Given the description of an element on the screen output the (x, y) to click on. 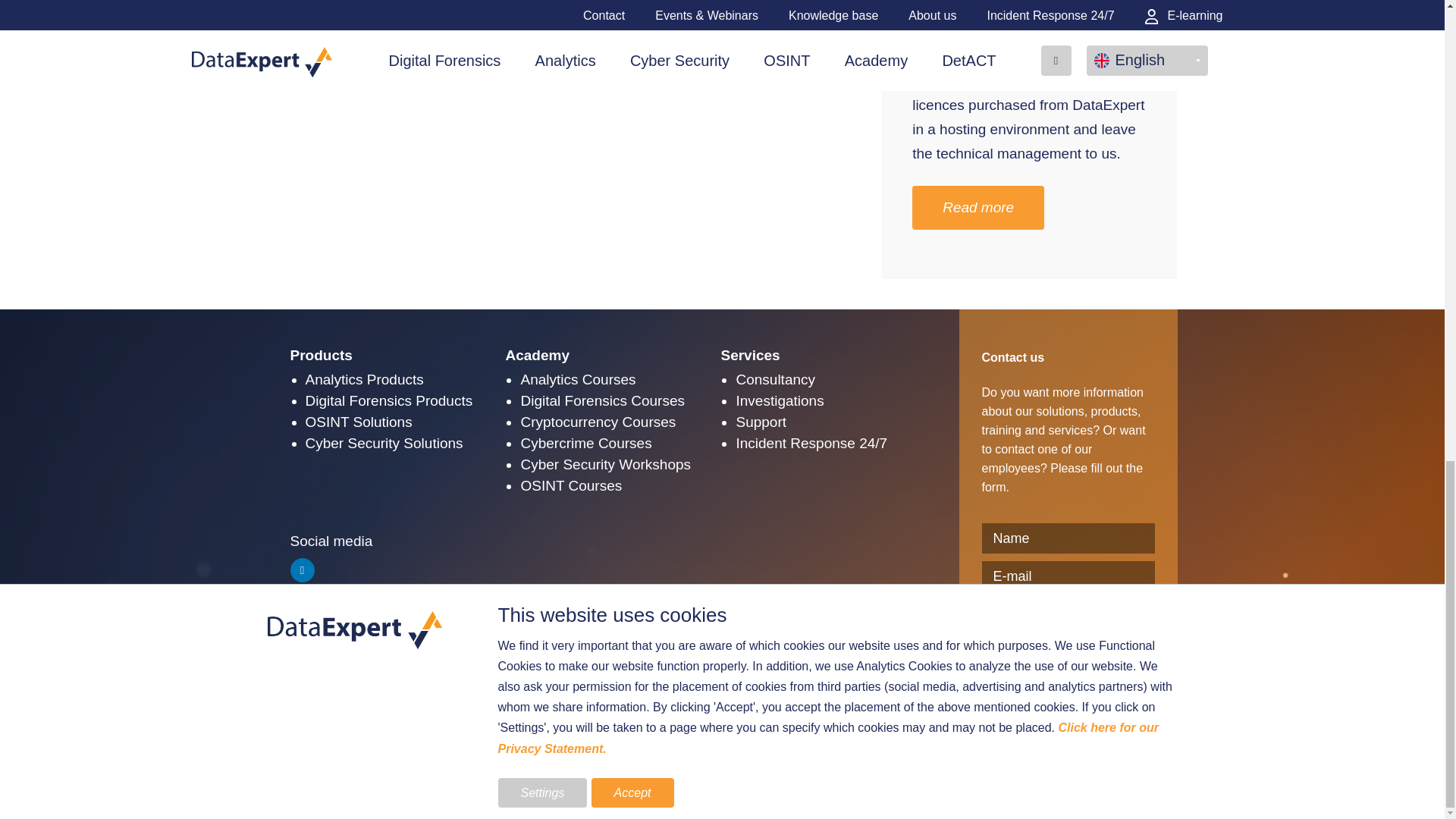
Hosted i2 (1044, 55)
Send (1067, 757)
Hosted i2 (944, 79)
Training (606, 355)
Services (821, 355)
Products  (391, 355)
Hosted i2 (977, 207)
